Given the description of an element on the screen output the (x, y) to click on. 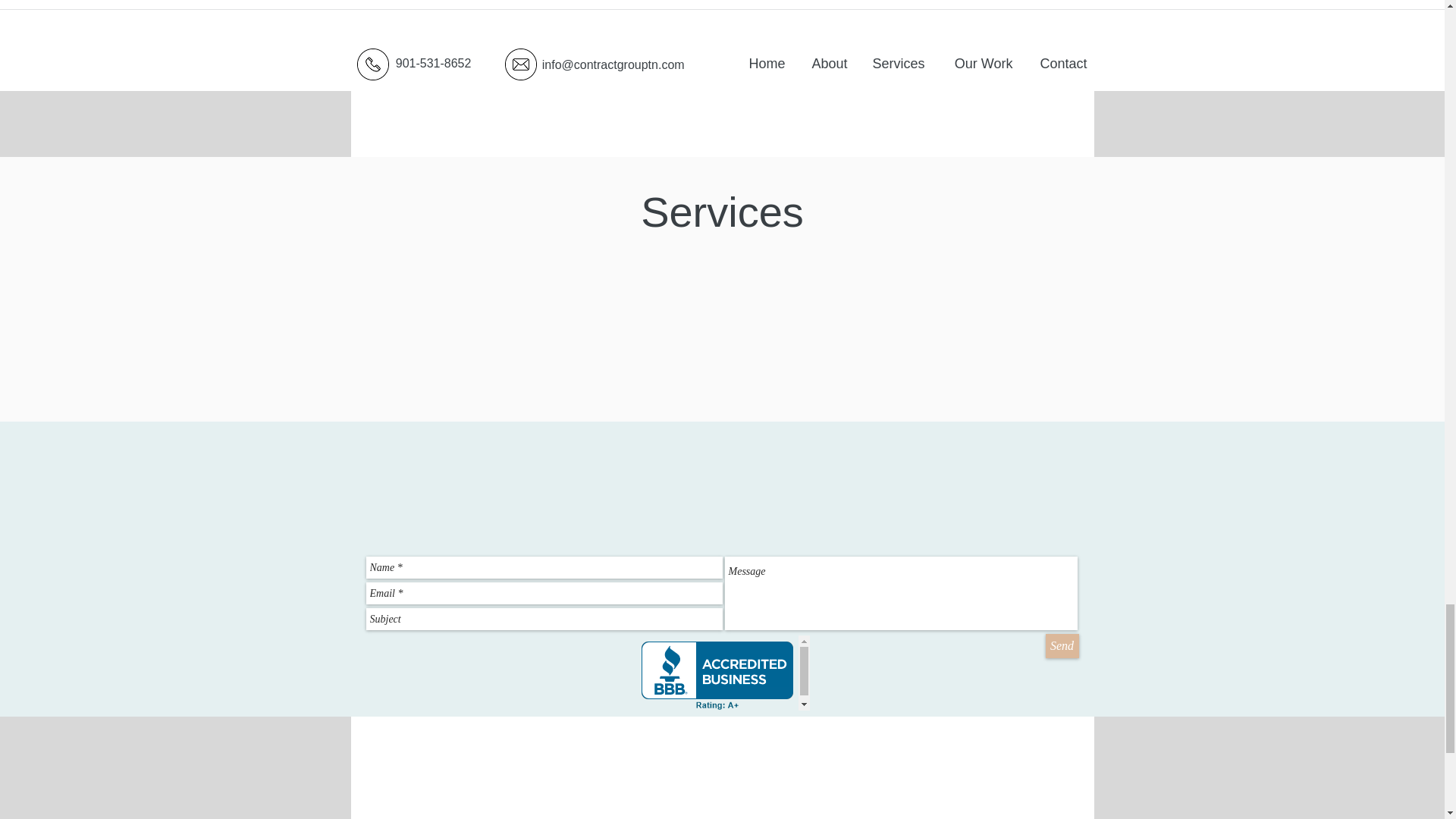
Send (1061, 645)
Embedded Content (721, 672)
